Given the description of an element on the screen output the (x, y) to click on. 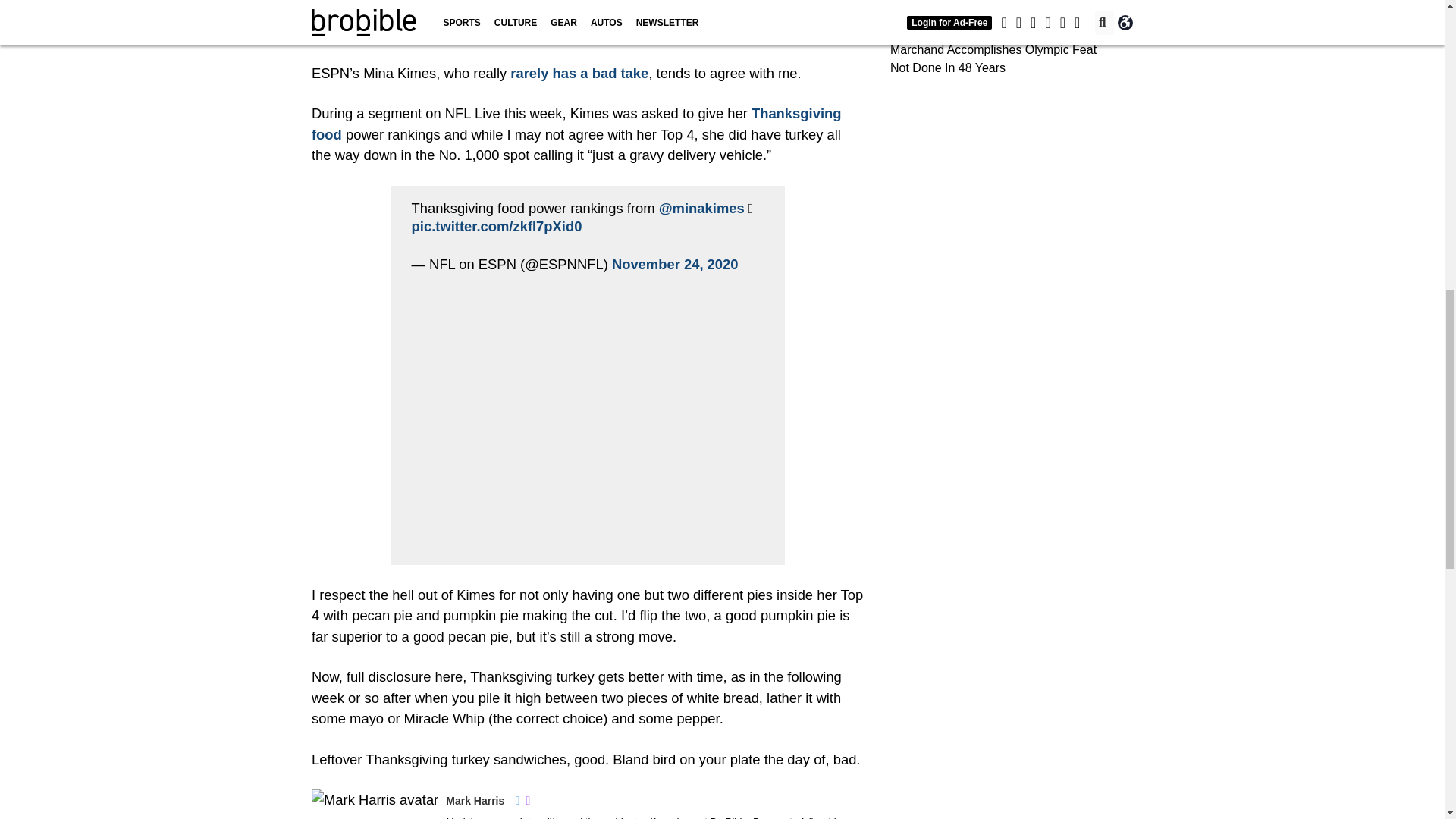
Posts by Mark Harris (474, 800)
